Given the description of an element on the screen output the (x, y) to click on. 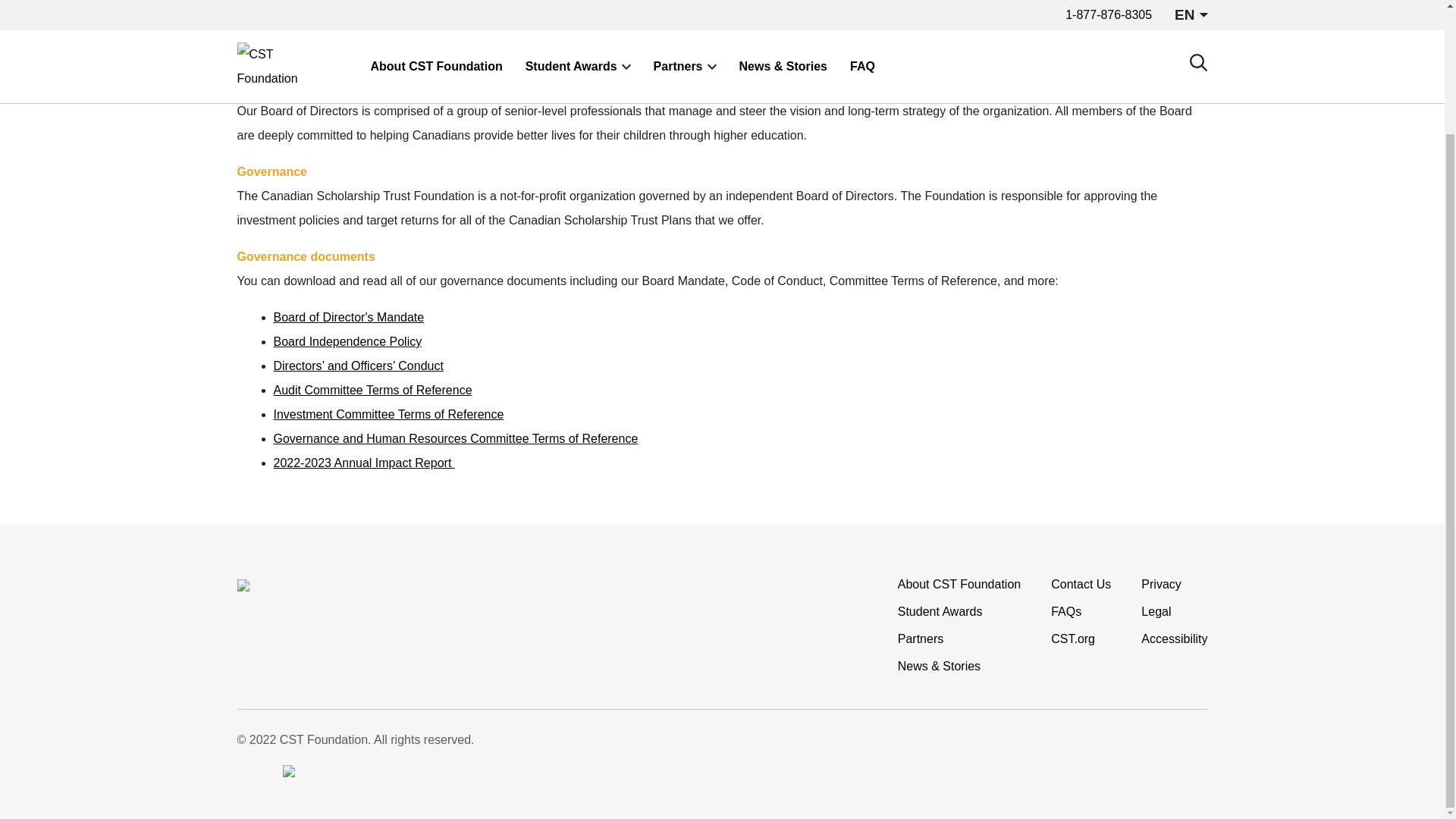
Student Awards (940, 611)
Board of Director's Mandate (348, 317)
Legal (1155, 611)
Governance and Human Resources Committee Terms of Reference (455, 438)
Investment Committee Terms of Reference (388, 413)
Board Independence Policy (347, 341)
Contact Us (1080, 584)
FAQs (1066, 611)
About CST Foundation (959, 584)
Partners (920, 639)
